Given the description of an element on the screen output the (x, y) to click on. 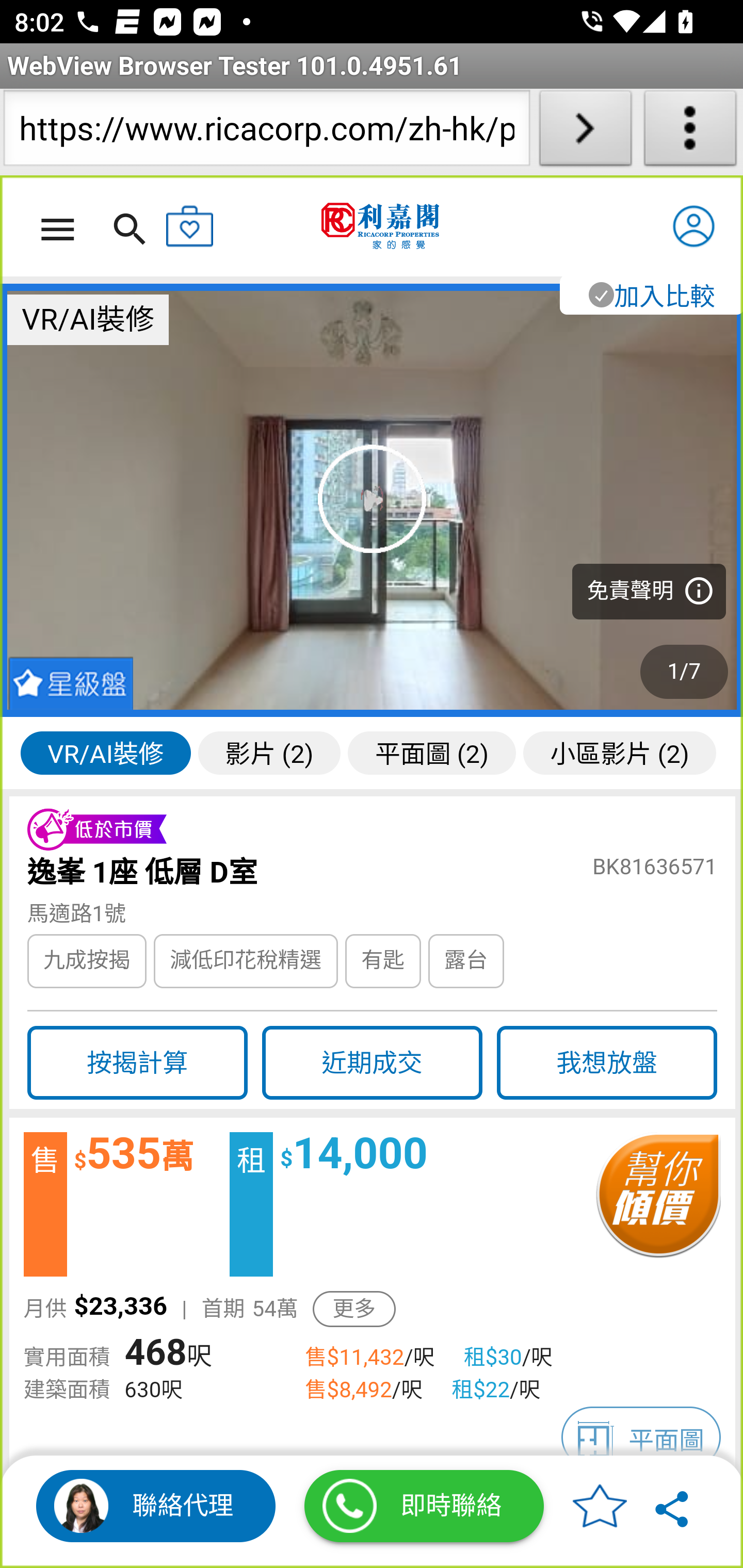
Load URL (585, 132)
About WebView (690, 132)
image watermark 免責聲明 (372, 499)
unchecked 加入比較 (650, 294)
免責聲明 (648, 591)
VR/AI裝修 (105, 752)
影片 (2) (268, 752)
平面圖 (2) (431, 752)
小區影片 (2) (618, 752)
按揭計算 (136, 1062)
近期成交 (371, 1062)
我想放盤 (606, 1062)
negotiation (657, 1204)
更多 (353, 1309)
平面圖 (640, 1437)
Carrie Lee 聯絡代理 (156, 1505)
whatsapp 即時聯絡 (424, 1505)
Share button (672, 1505)
